Given the description of an element on the screen output the (x, y) to click on. 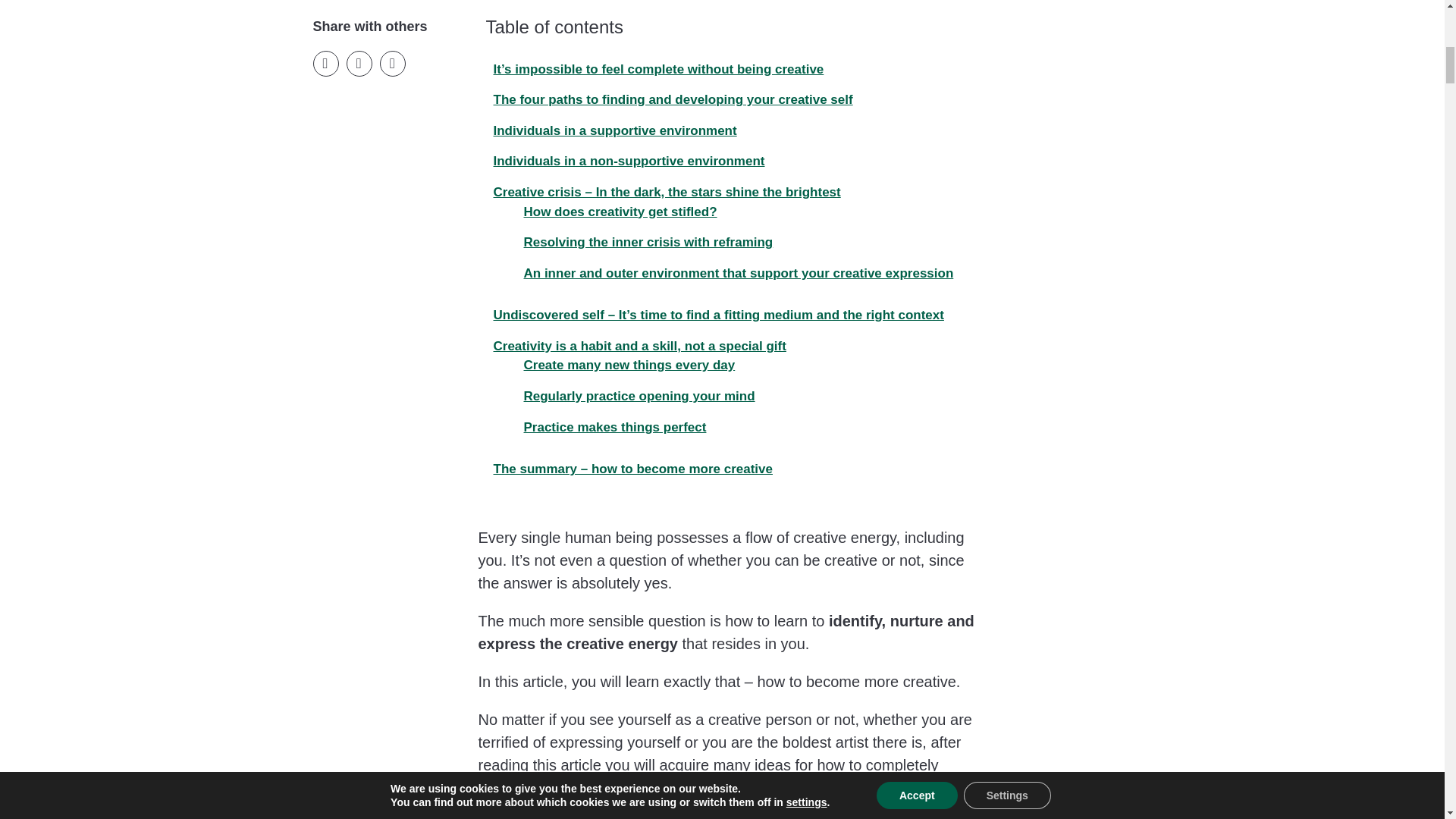
Creativity is a habit and a skill, not a special gift (635, 345)
The four paths to finding and developing your creative self (667, 99)
Regularly practice opening your mind (634, 396)
Resolving the inner crisis with reframing (644, 242)
Individuals in a supportive environment (610, 130)
Create many new things every day (625, 364)
How does creativity get stifled? (615, 211)
The four paths to finding and developing your creative self (667, 99)
Individuals in a supportive environment (610, 130)
